Given the description of an element on the screen output the (x, y) to click on. 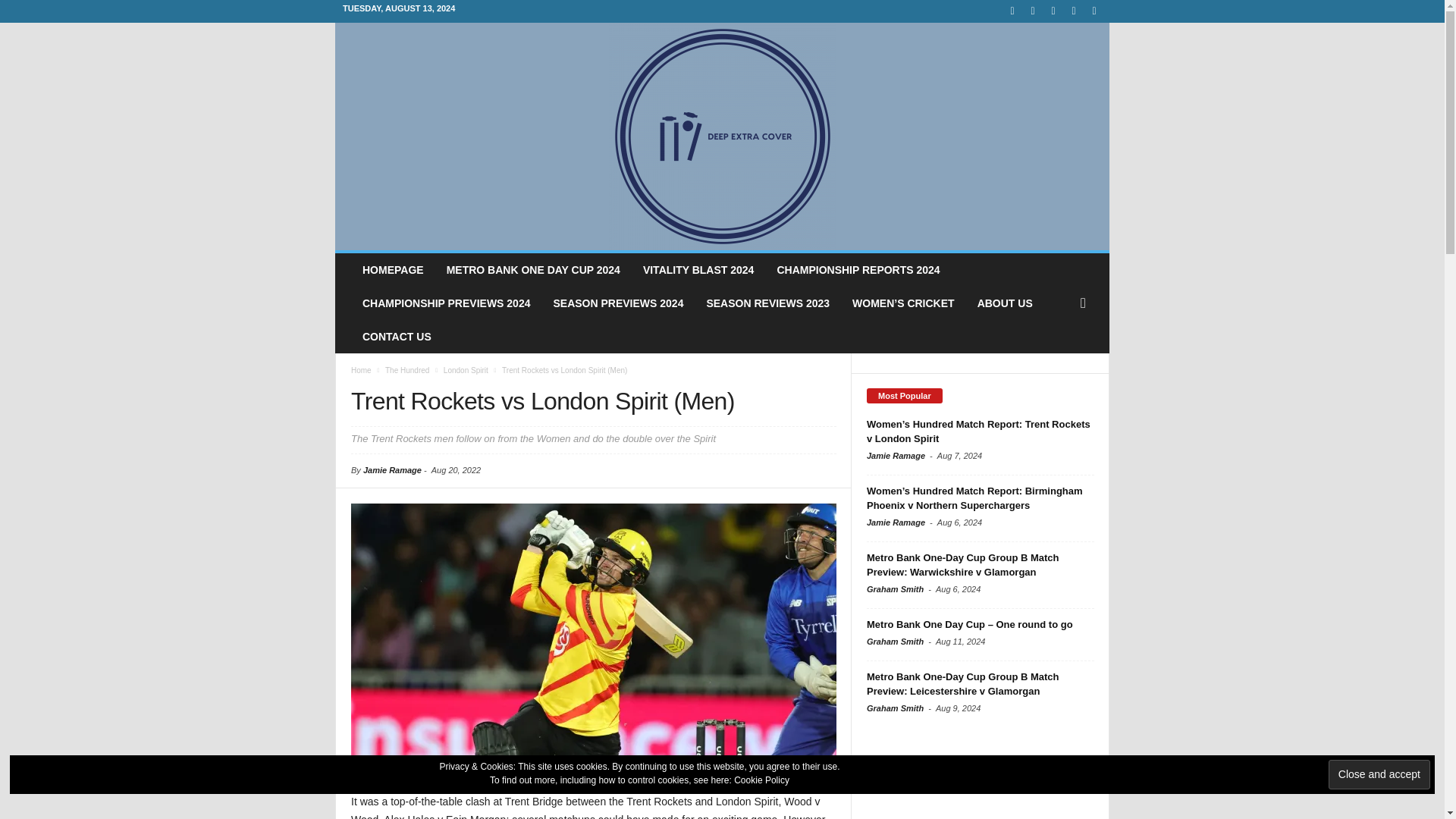
View all posts in The Hundred (407, 370)
Facebook (1012, 10)
The Hundred (407, 370)
CHAMPIONSHIP REPORTS 2024 (857, 269)
Instagram (1032, 10)
ABOUT US (1004, 303)
Jamie Ramage (392, 470)
SEASON REVIEWS 2023 (767, 303)
VITALITY BLAST 2024 (698, 269)
CONTACT US (396, 336)
